Given the description of an element on the screen output the (x, y) to click on. 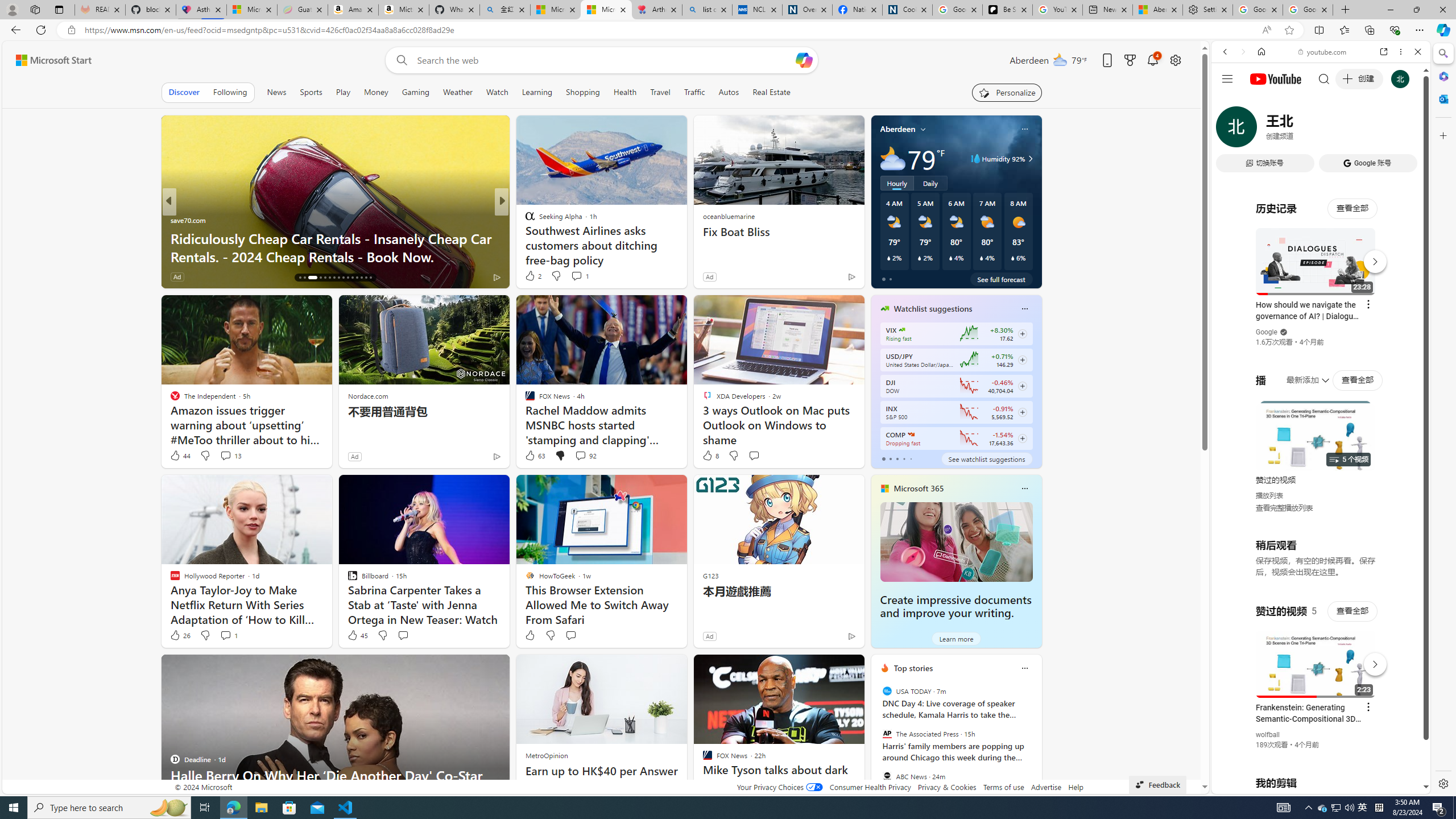
Forward (1242, 51)
51 Like (530, 276)
Show More Music (1390, 310)
View comments 4 Comment (580, 276)
AutomationID: tab-17 (304, 277)
Trailer #2 [HD] (1320, 336)
AutomationID: tab-26 (352, 277)
Nordace (532, 238)
22 Like (530, 276)
Side bar (1443, 418)
Skip to footer (46, 59)
Weather (457, 92)
Close Customize pane (1442, 135)
AutomationID: tab-22 (333, 277)
